Given the description of an element on the screen output the (x, y) to click on. 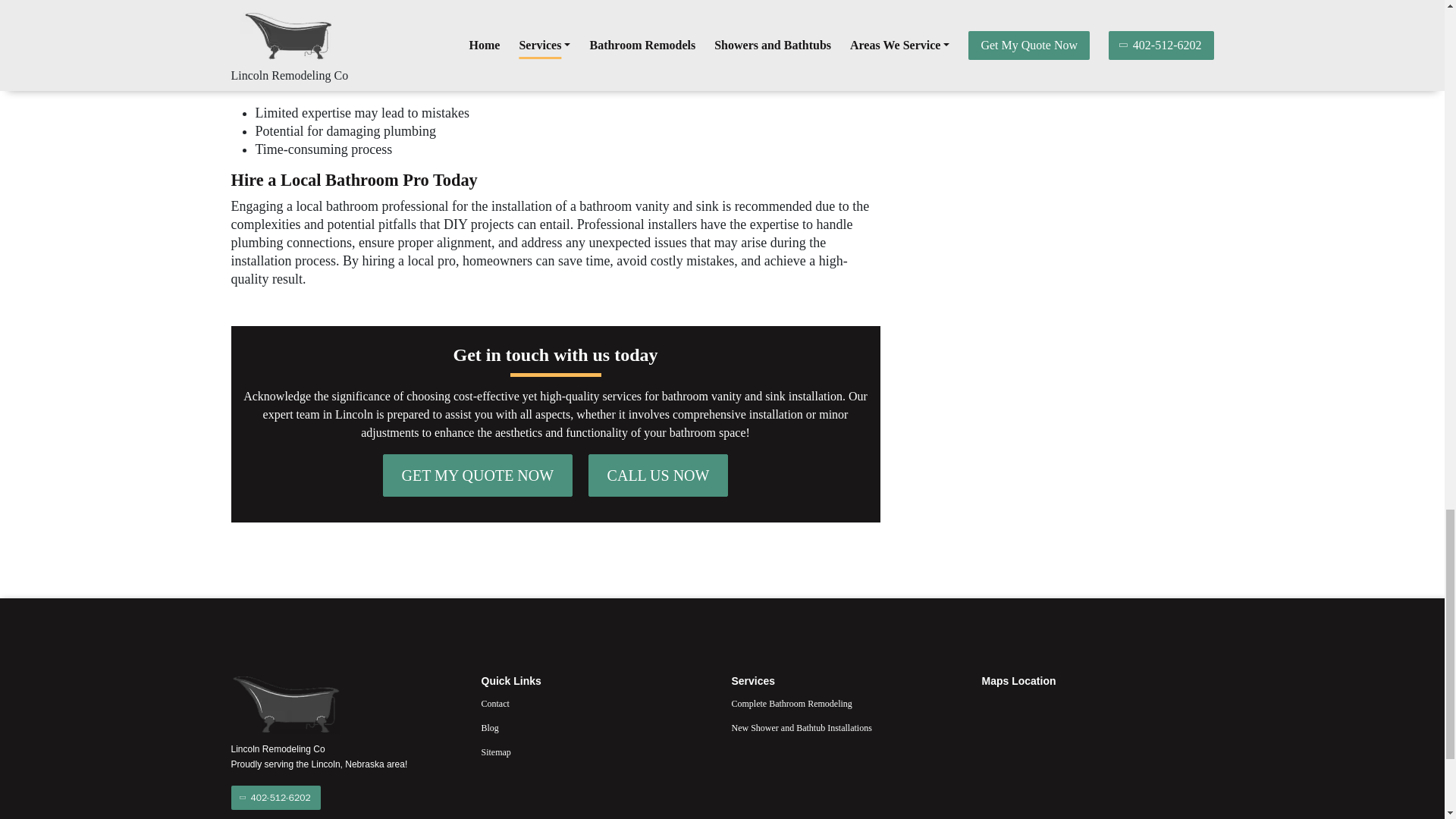
Blog (596, 728)
GET MY QUOTE NOW (477, 475)
Contact (596, 703)
CALL US NOW (658, 475)
Sitemap (596, 751)
402-512-6202 (275, 797)
